Given the description of an element on the screen output the (x, y) to click on. 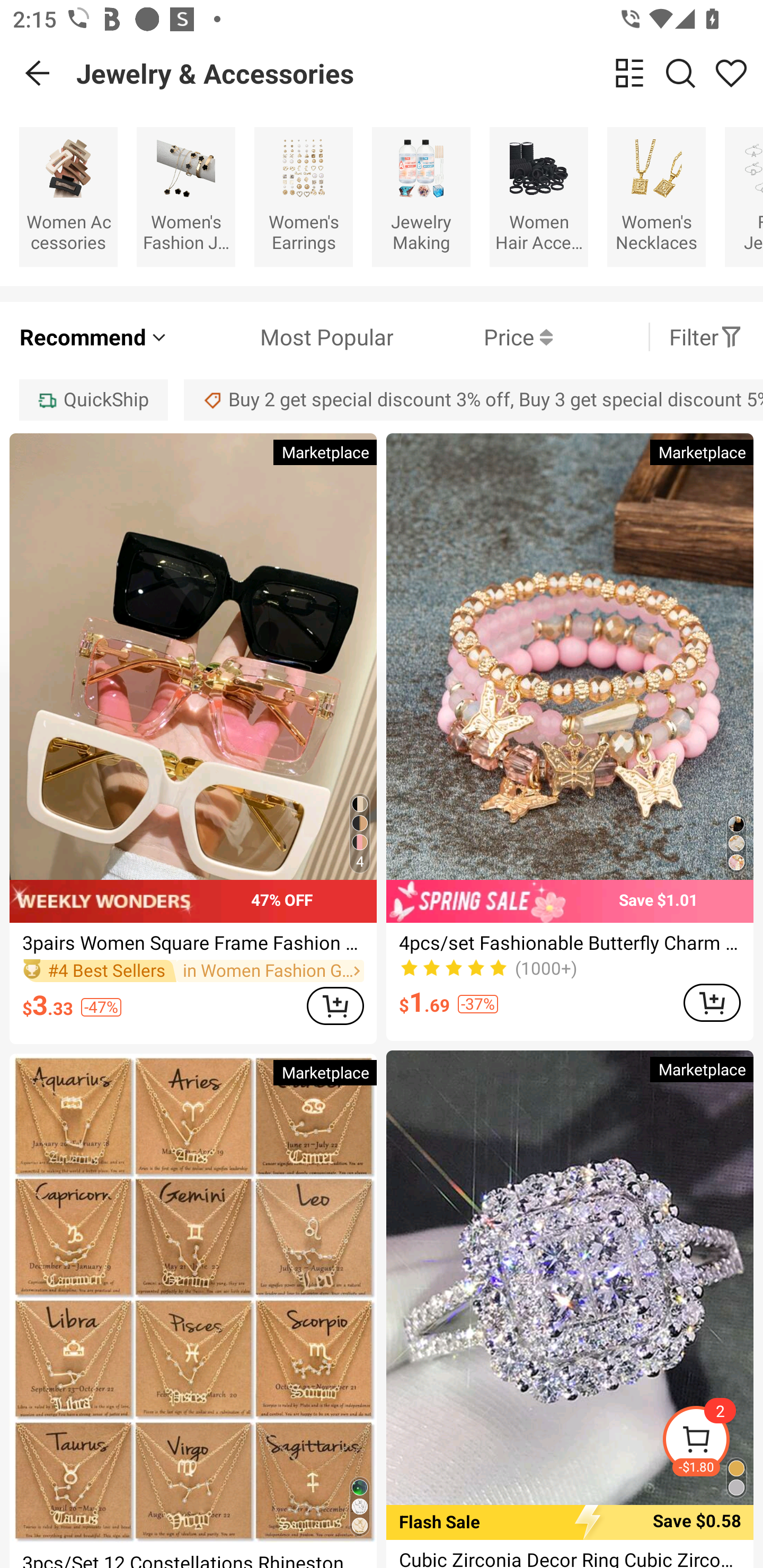
Jewelry & Accessories change view Search Share (419, 72)
change view (629, 72)
Search (679, 72)
Share (730, 72)
Women Accessories (68, 196)
Women's Fashion Jewelry (185, 196)
Women's Earrings (303, 196)
Jewelry Making (421, 196)
Women Hair Accessories (538, 196)
Women's Necklaces (656, 196)
Recommend (94, 336)
Most Popular (280, 336)
Price (472, 336)
Filter (705, 336)
QuickShip (93, 399)
#4 Best Sellers in Women Fashion Glasses (192, 970)
ADD TO CART (711, 1002)
ADD TO CART (334, 1005)
-$1.80 (712, 1441)
